Given the description of an element on the screen output the (x, y) to click on. 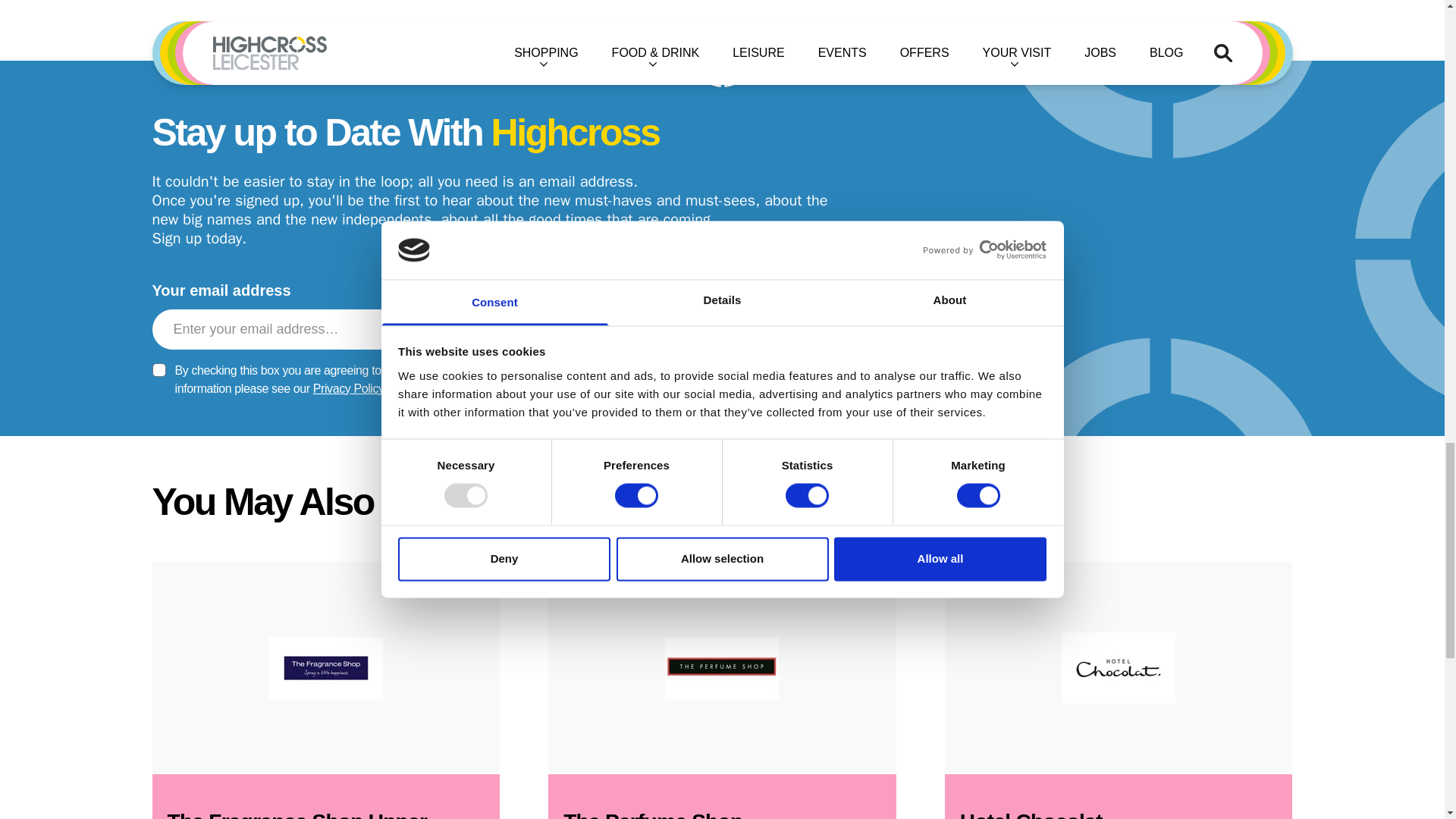
on (158, 369)
